Given the description of an element on the screen output the (x, y) to click on. 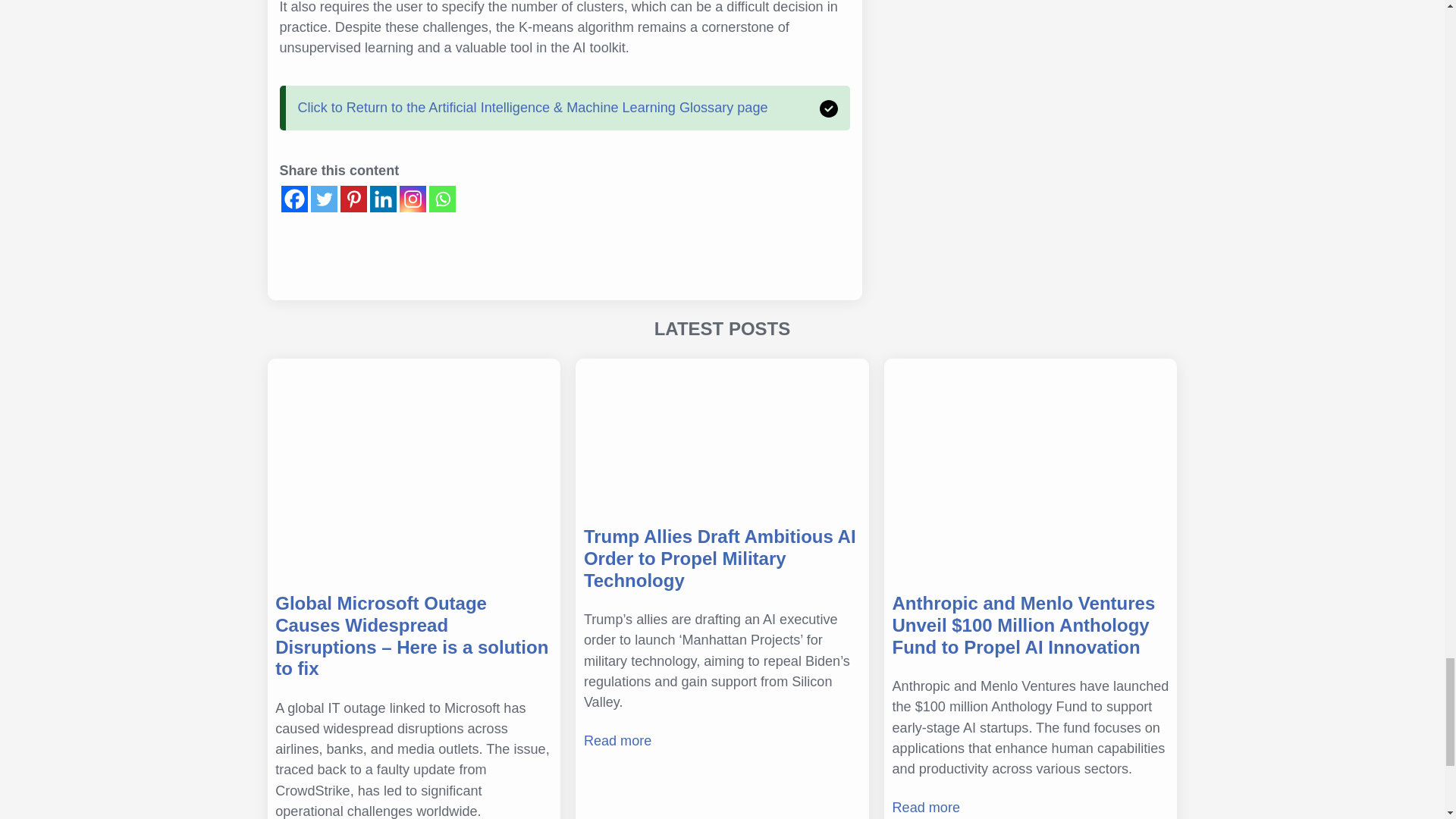
Instagram (411, 198)
Pinterest (352, 198)
Linkedin (382, 198)
Whatsapp (442, 198)
Twitter (324, 198)
Facebook (294, 198)
